Given the description of an element on the screen output the (x, y) to click on. 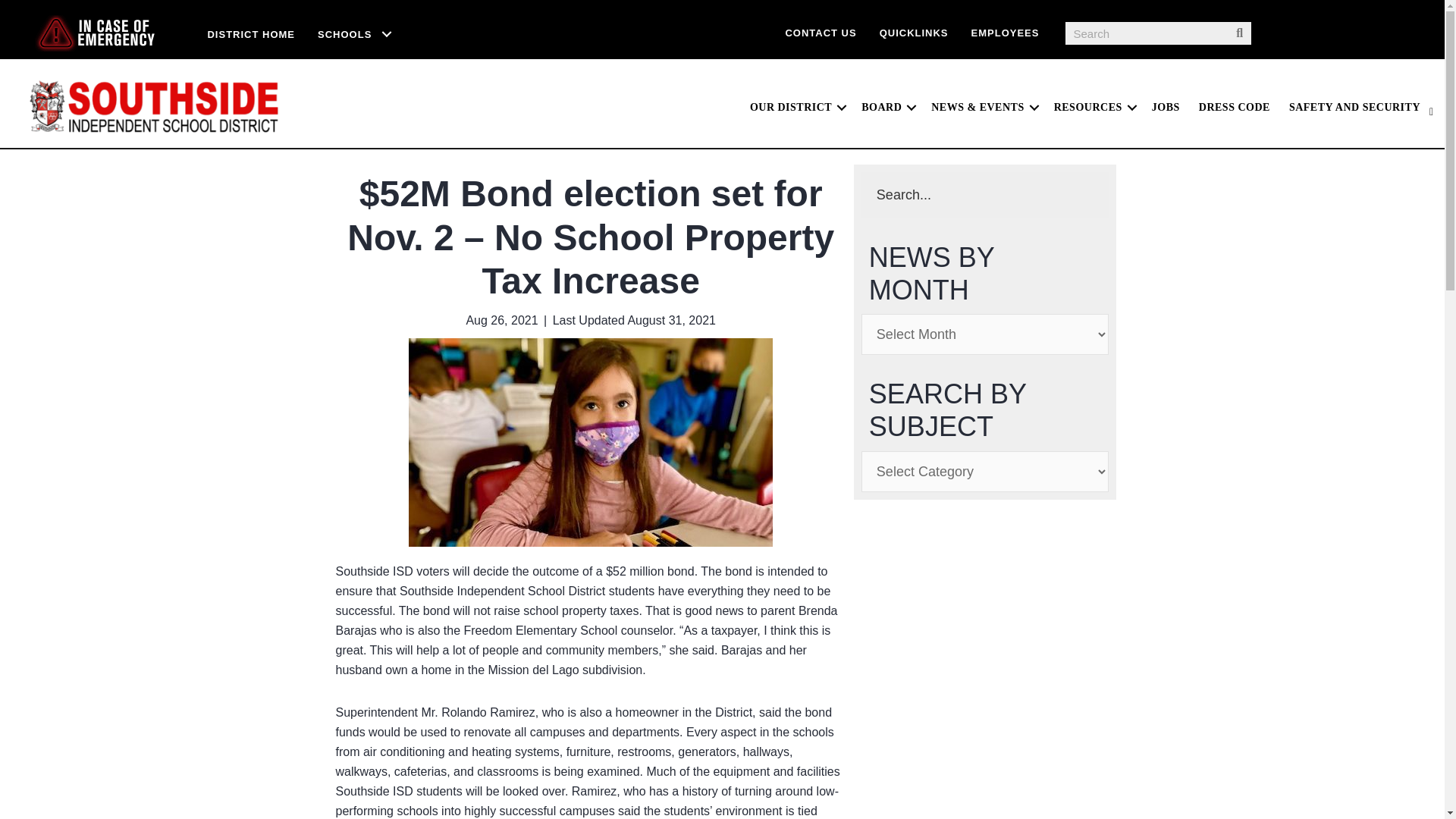
Search (1146, 33)
CONTACT US (820, 32)
SCHOOLS (354, 33)
DISTRICT HOME (250, 33)
OUR DISTRICT (796, 107)
QUICKLINKS (913, 32)
BOARD (886, 107)
EMPLOYEES (1005, 32)
